Given the description of an element on the screen output the (x, y) to click on. 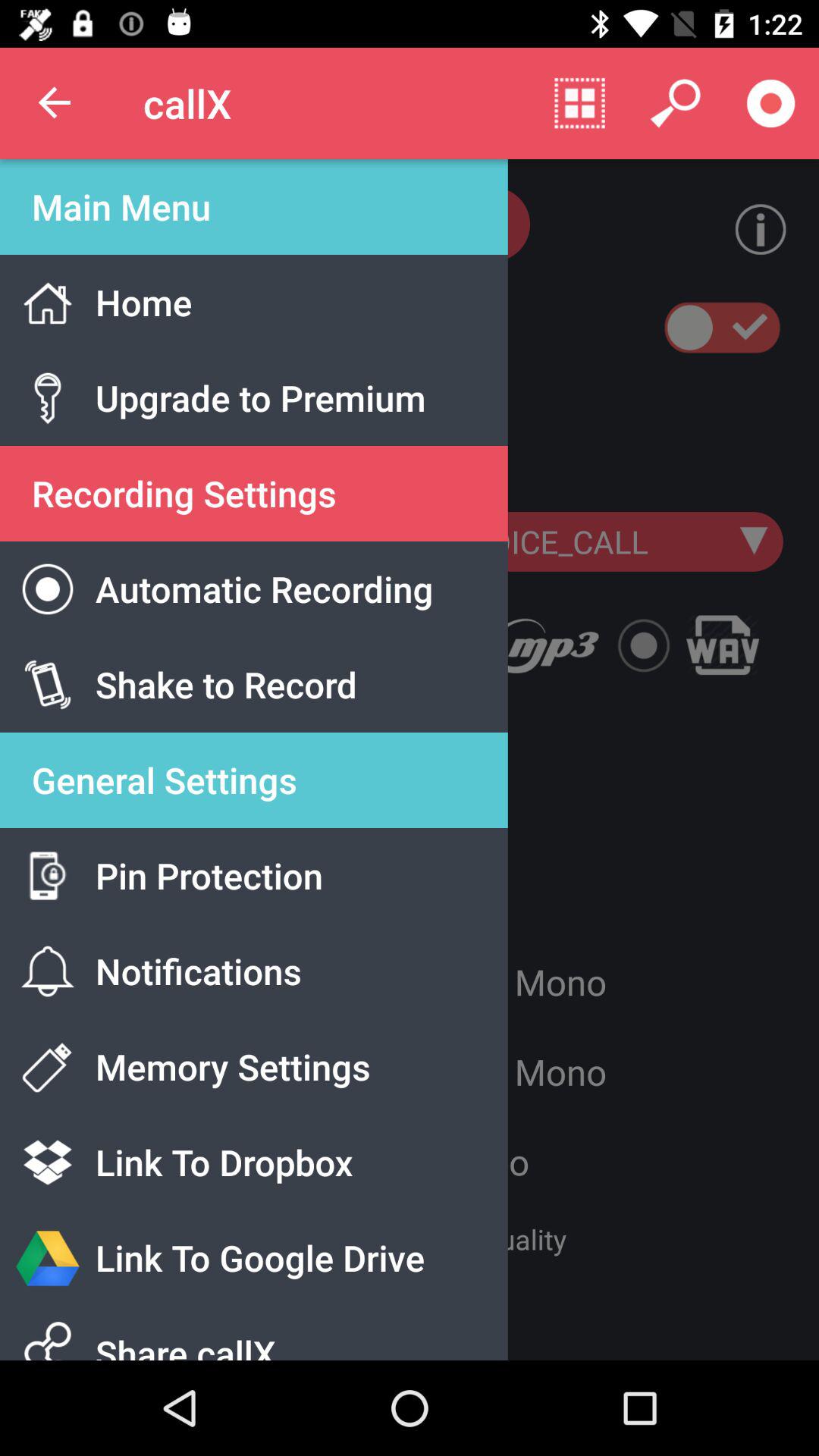
click the button pin protection on the web page (280, 893)
click on the button which is next to the main menu (748, 229)
